Given the description of an element on the screen output the (x, y) to click on. 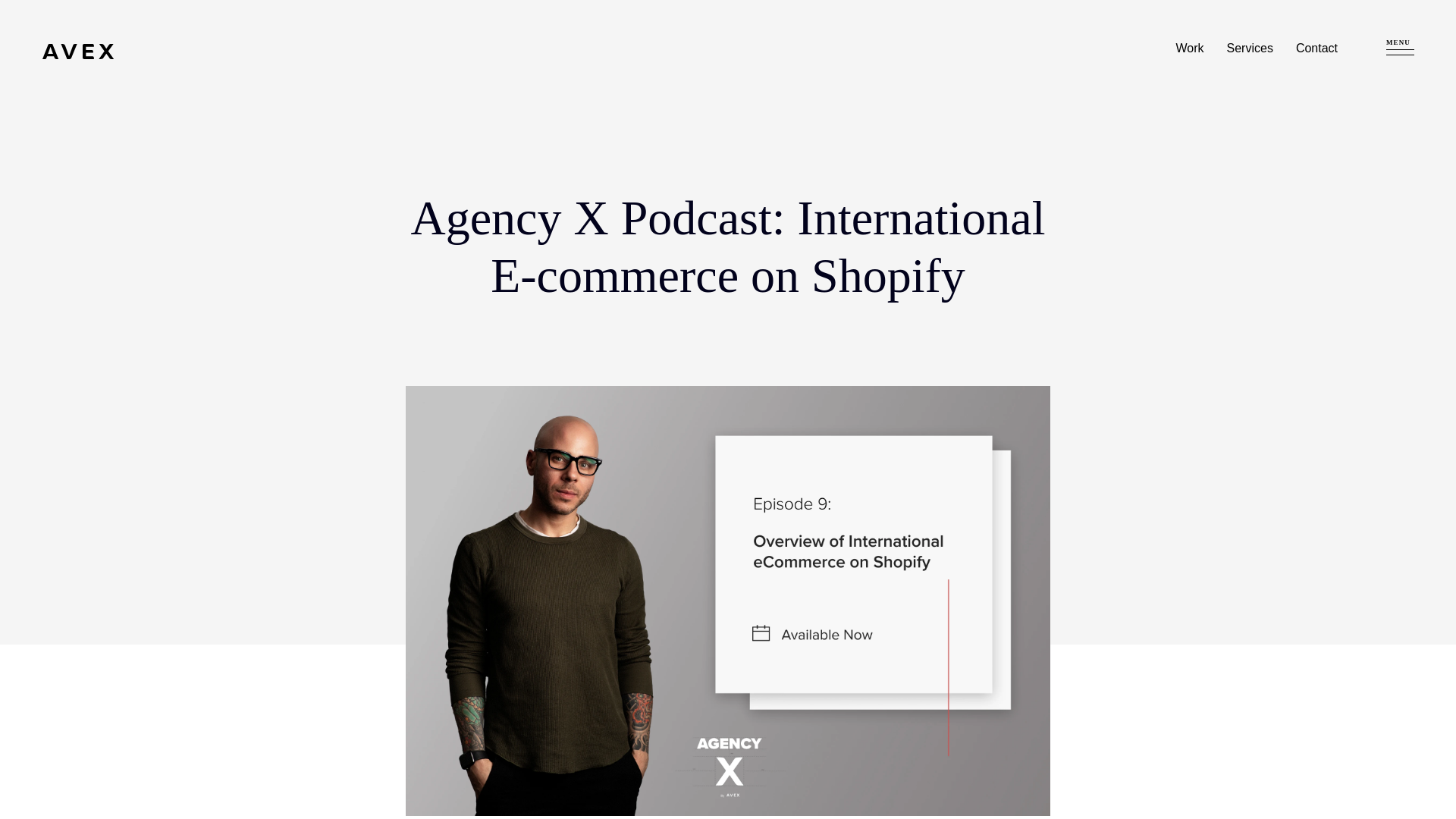
Services (1249, 47)
Work (1189, 47)
Contact (1316, 47)
